Given the description of an element on the screen output the (x, y) to click on. 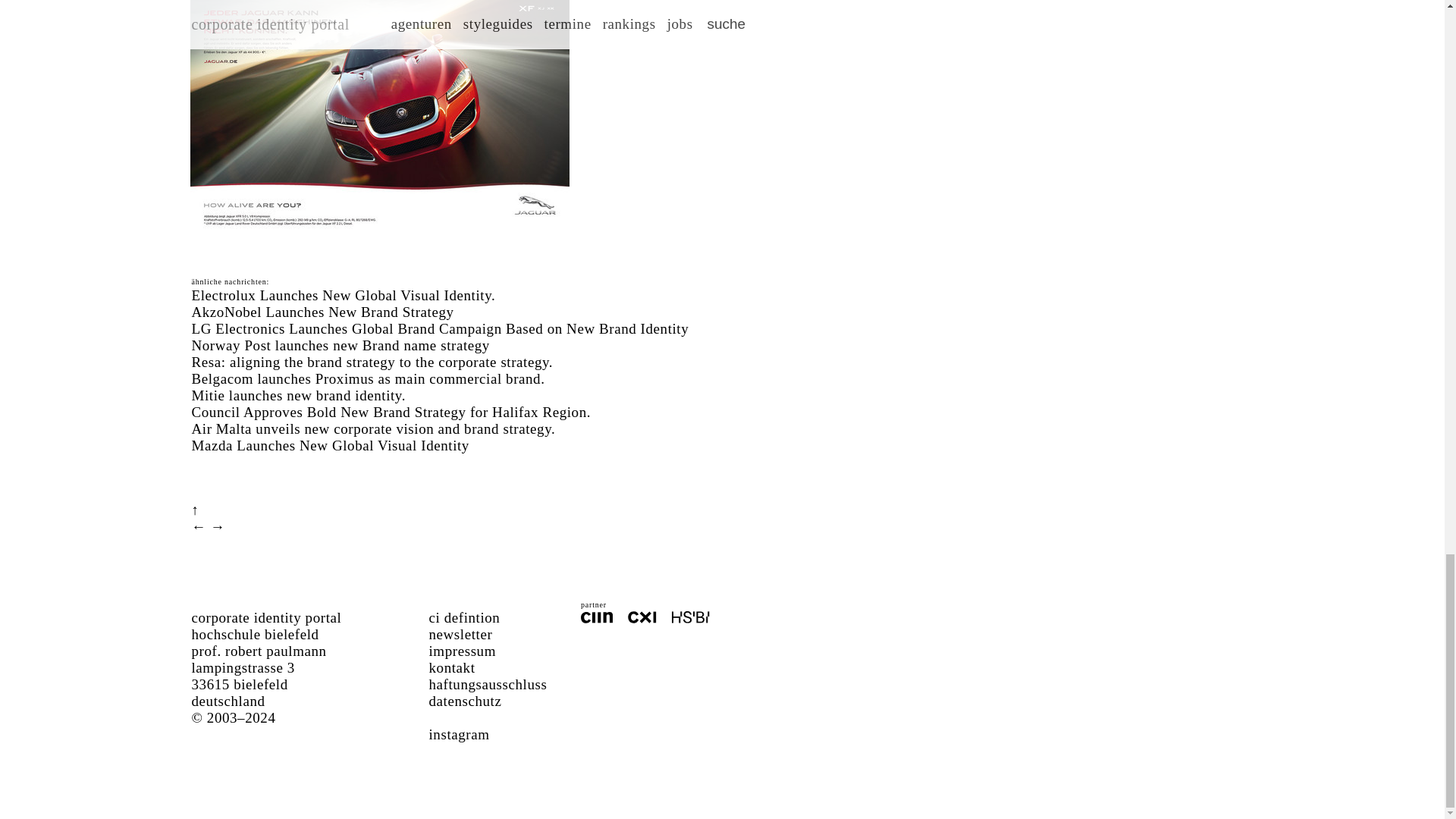
newsletter (461, 634)
impressum (462, 650)
Council Approves Bold New Brand Strategy for Halifax Region. (390, 412)
Norway Post launches new Brand name strategy (339, 344)
Air Malta unveils new corporate vision and brand strategy. (372, 428)
Belgacom launches Proximus as main commercial brand. (367, 378)
Mitie launches new brand identity. (298, 395)
Air Malta unveils new corporate vision and brand strategy. (372, 428)
Electrolux Launches New Global Visual Identity. (342, 295)
Resa: aligning the brand strategy to the corporate strategy. (371, 361)
AkzoNobel Launches New Brand Strategy (321, 311)
kontakt (452, 667)
Norway Post launches new Brand name strategy (339, 344)
Council Approves Bold New Brand Strategy for Halifax Region. (390, 412)
Mitie launches new brand identity. (298, 395)
